Given the description of an element on the screen output the (x, y) to click on. 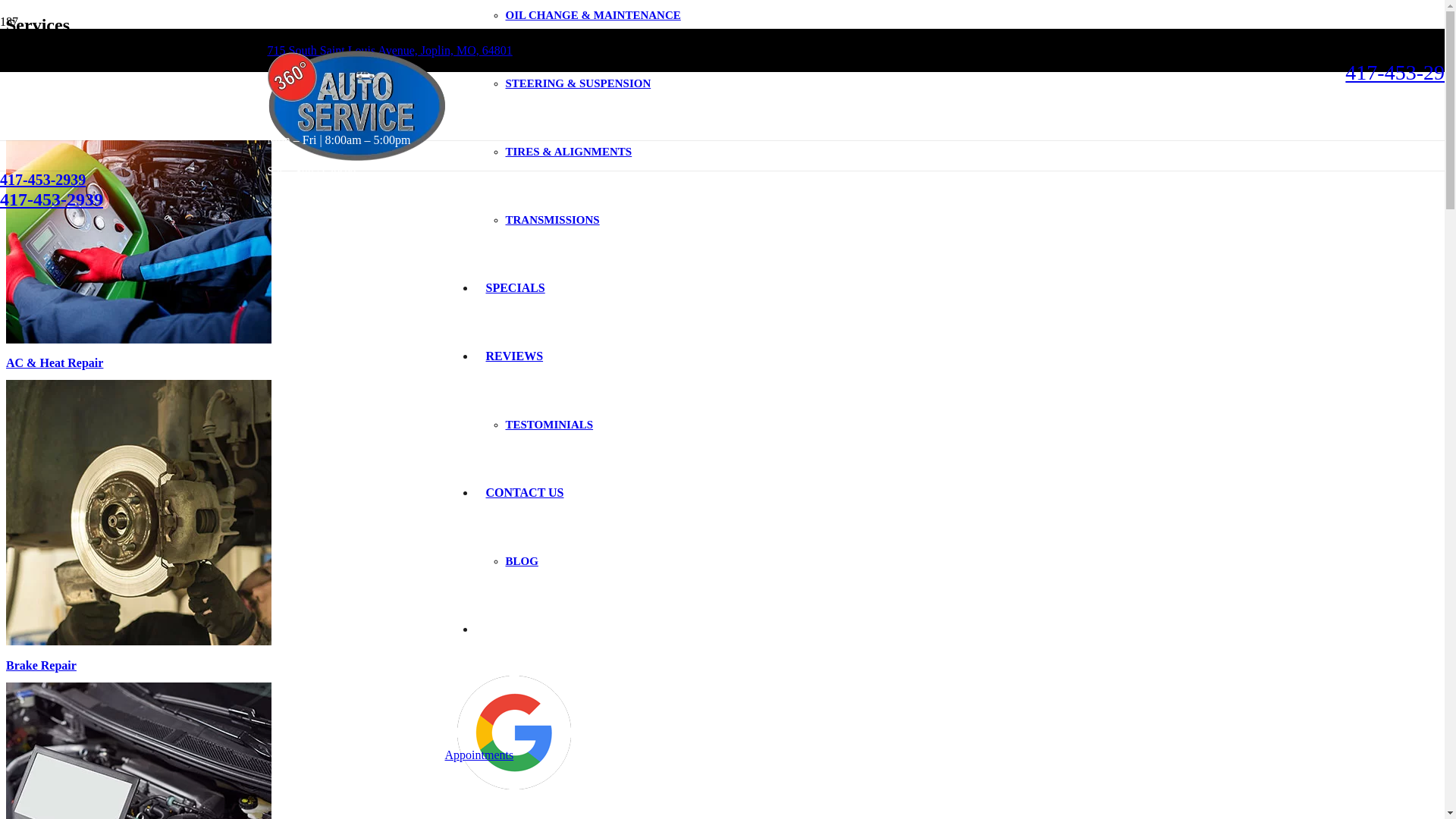
Appointments Element type: text (478, 754)
417-453-2939 Element type: text (42, 179)
Brake Repair Element type: text (41, 664)
417-453-2939 Element type: text (51, 199)
TIRES & ALIGNMENTS Element type: text (568, 151)
AC & Heat Repair Element type: text (54, 362)
SPECIALS Element type: text (514, 287)
TRANSMISSIONS Element type: text (552, 219)
REVIEWS Element type: text (513, 355)
Services Element type: text (26, 70)
STEERING & SUSPENSION Element type: text (577, 83)
TESTOMINIALS Element type: text (549, 424)
BLOG Element type: text (521, 561)
Home Element type: text (20, 56)
715 South Saint Louis Avenue, Joplin, MO, 64801 Element type: text (388, 49)
CONTACT US Element type: text (524, 492)
OIL CHANGE & MAINTENANCE Element type: text (592, 15)
